Given the description of an element on the screen output the (x, y) to click on. 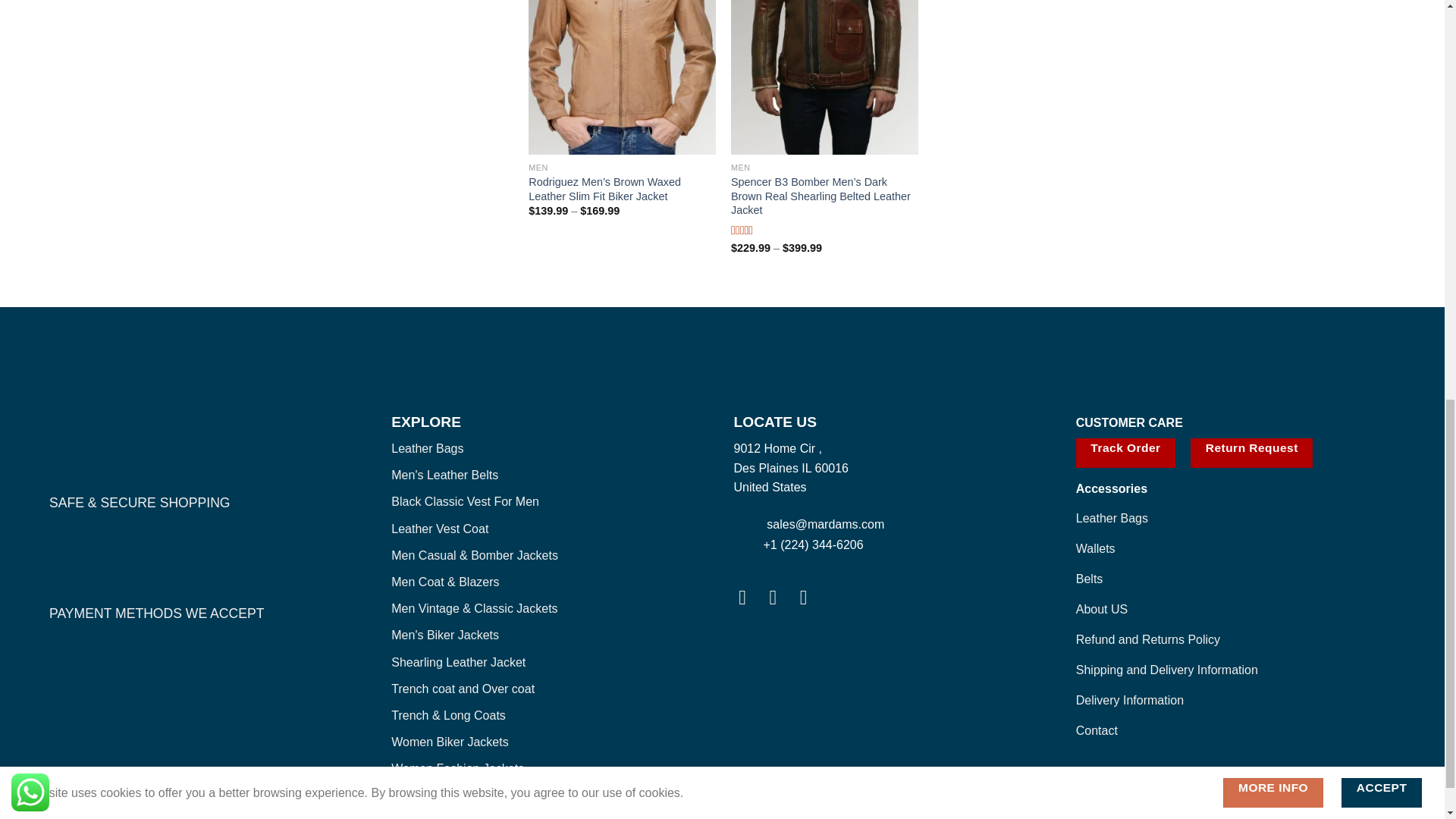
Follow on Twitter (810, 597)
Follow on Facebook (748, 597)
Follow on Instagram (780, 597)
